Given the description of an element on the screen output the (x, y) to click on. 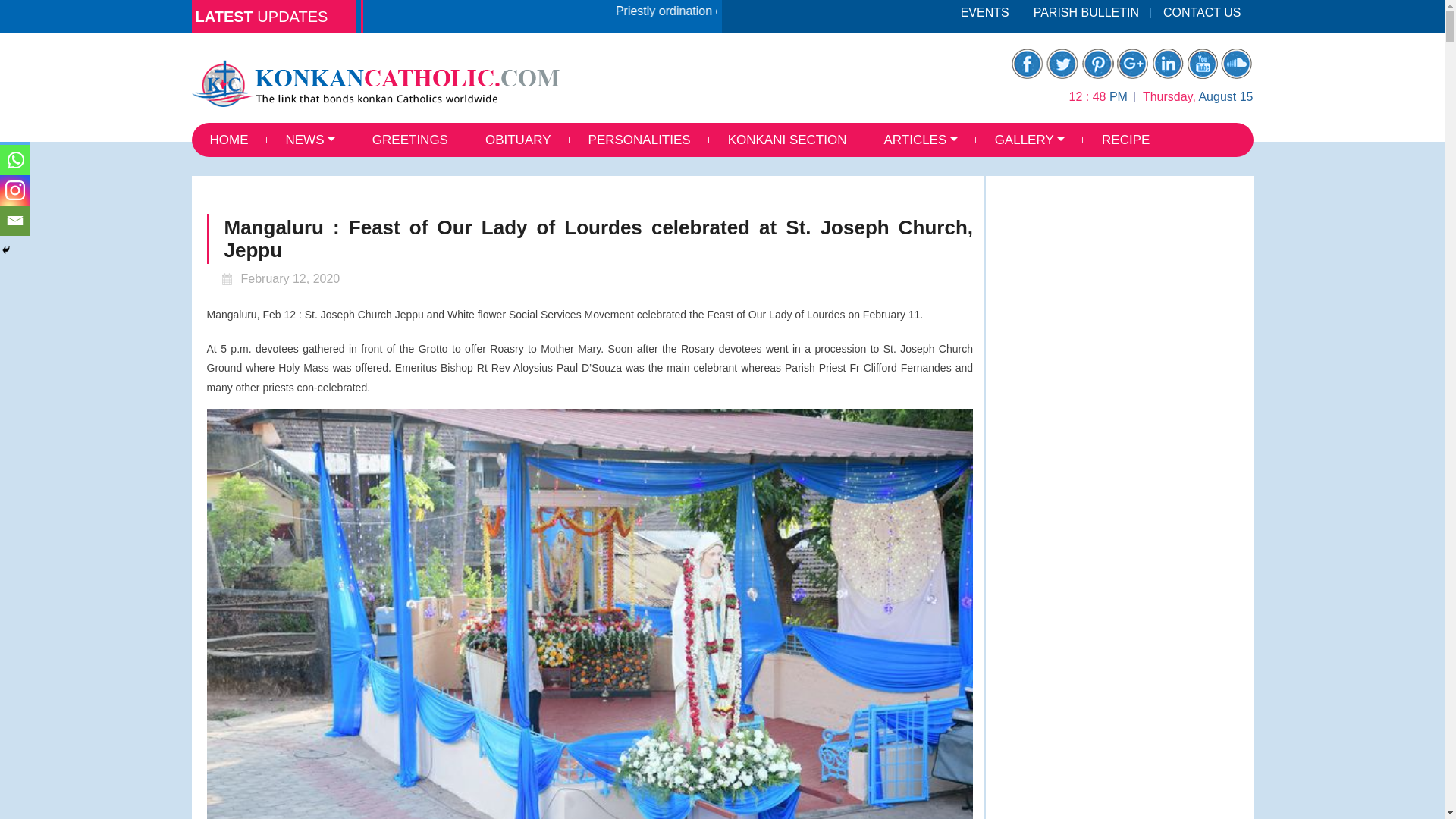
Konkani Section (787, 139)
Events (985, 12)
CONTACT US (1201, 12)
GALLERY (1029, 139)
KONKANI SECTION (787, 139)
Greetings (409, 139)
ARTICLES (919, 139)
OBITUARY (518, 139)
PARISH BULLETIN (1086, 12)
HOME (228, 139)
